Given the description of an element on the screen output the (x, y) to click on. 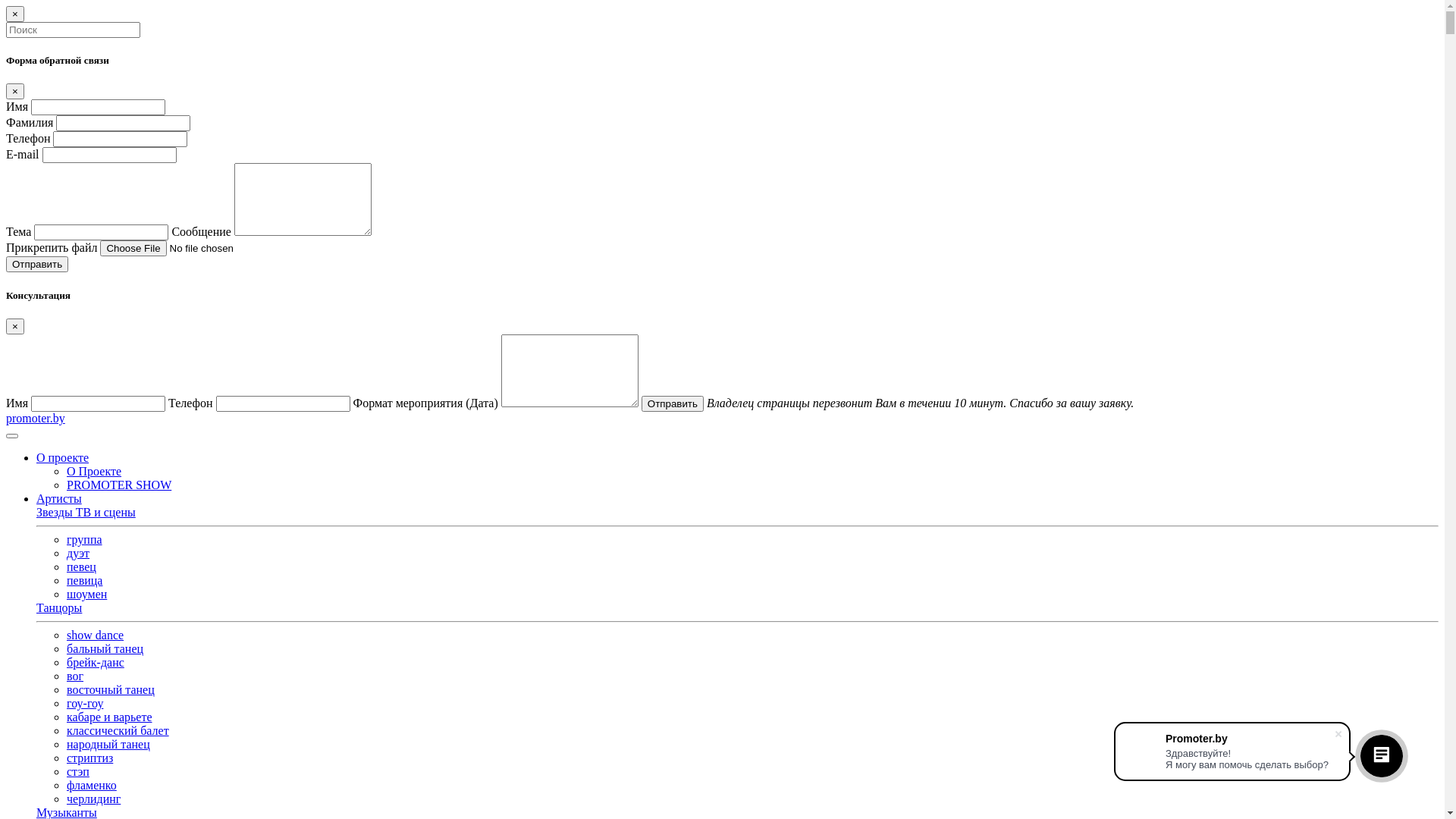
promoter.by Element type: text (35, 417)
show dance Element type: text (94, 634)
PROMOTER SHOW Element type: text (118, 484)
